Given the description of an element on the screen output the (x, y) to click on. 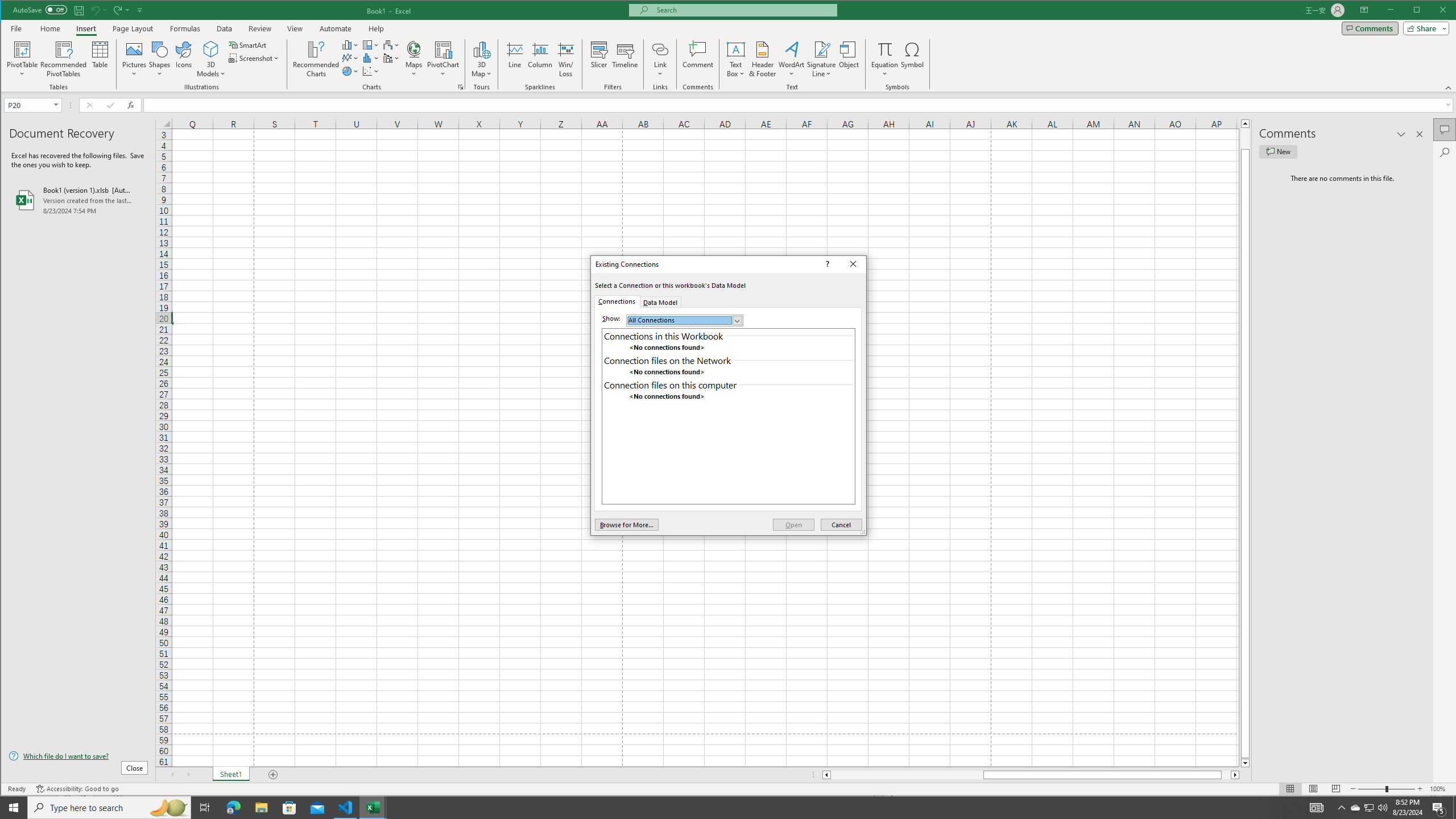
Page Break Preview (1335, 788)
Excel - 2 running windows (373, 807)
Recommended Charts (460, 86)
Microsoft search (742, 10)
Scroll Left (172, 774)
Line (514, 59)
Timeline (625, 59)
Signature Line (821, 48)
Maps (413, 59)
Insert Line or Area Chart (350, 57)
Maximize (1432, 11)
